Given the description of an element on the screen output the (x, y) to click on. 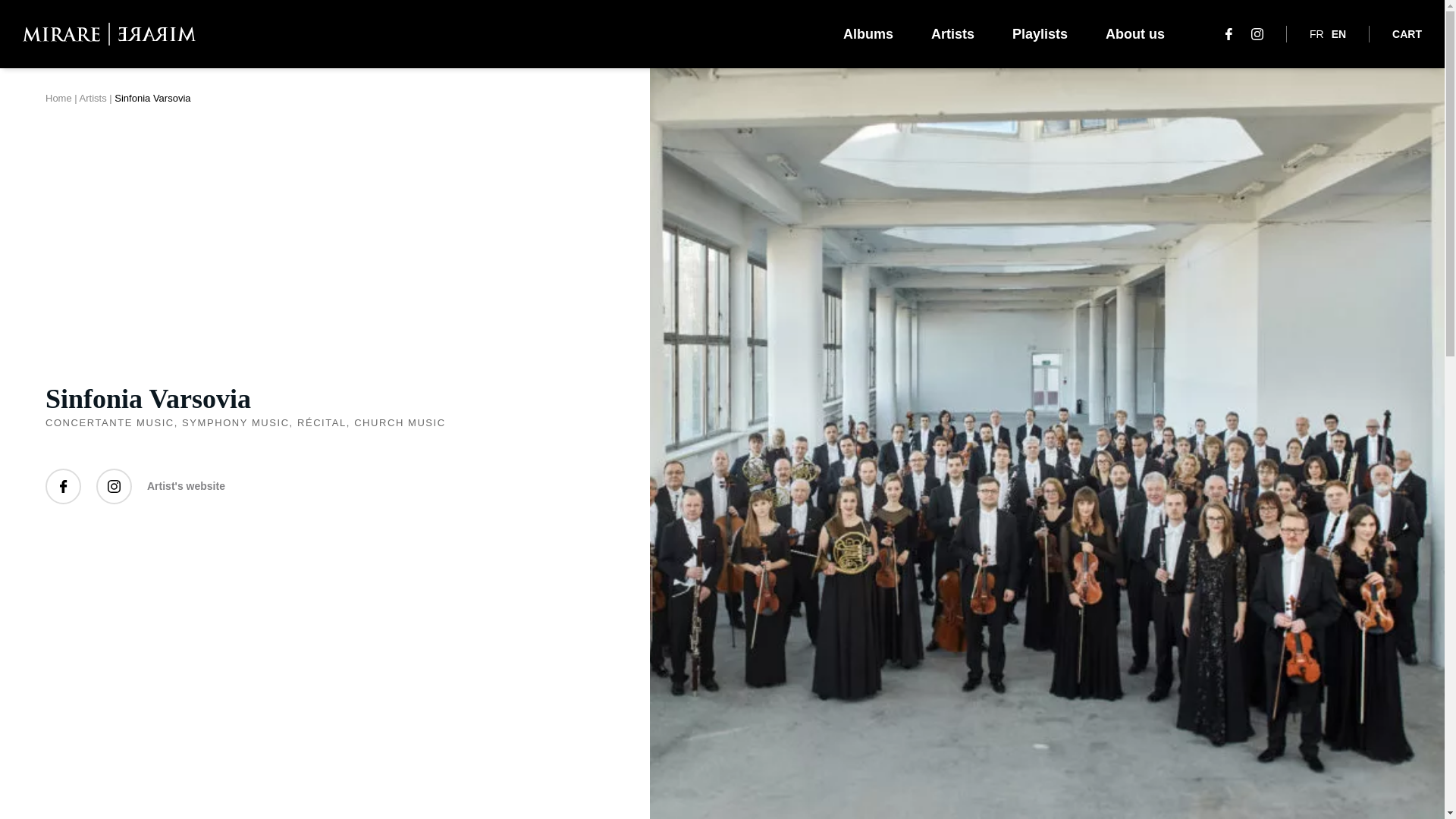
Playlists (1039, 33)
Home (58, 98)
About us (1134, 33)
Artists (93, 98)
Albums (868, 33)
Artist's website (186, 486)
CART (1406, 33)
Artists (952, 33)
